Given the description of an element on the screen output the (x, y) to click on. 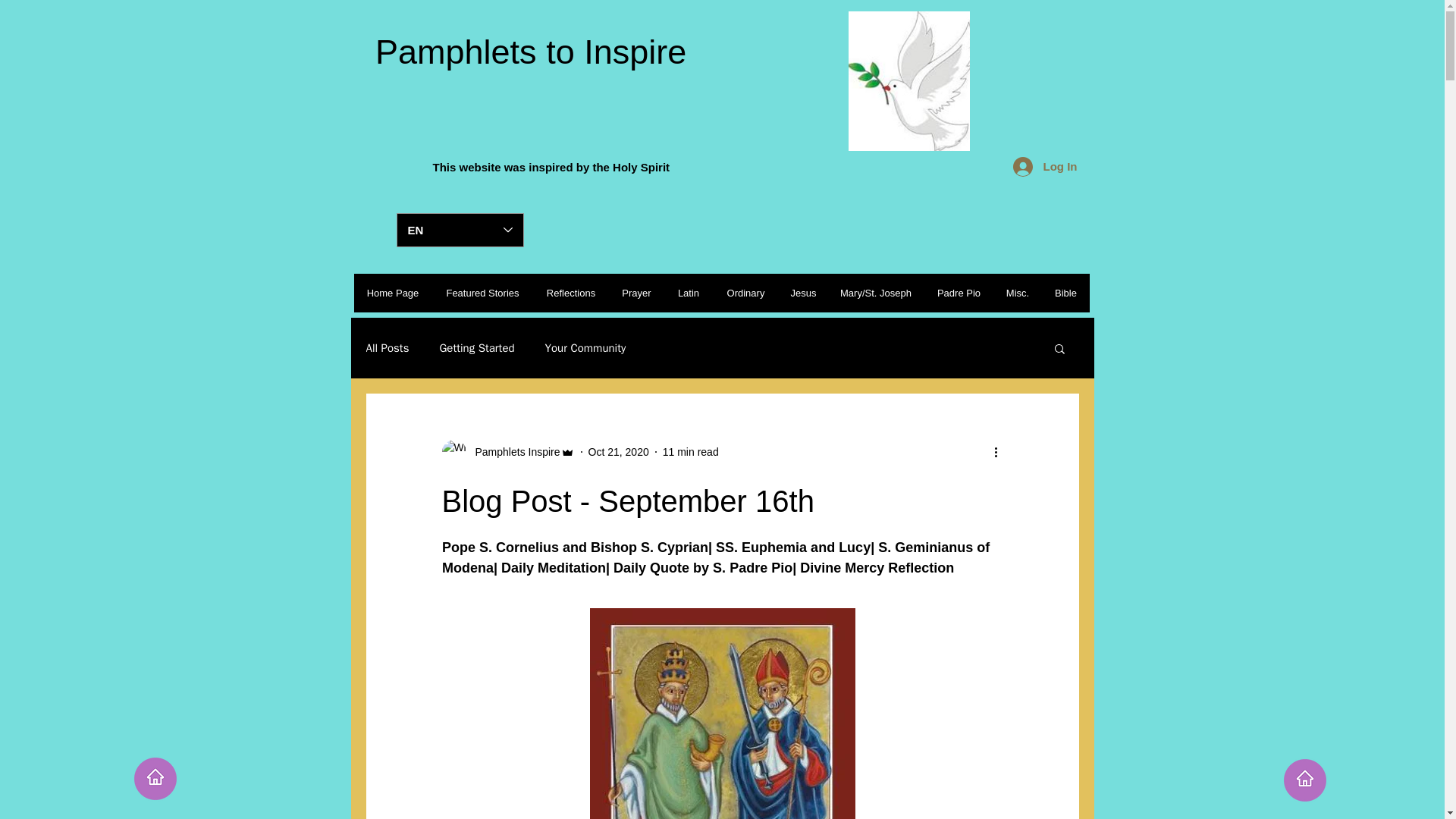
Oct 21, 2020 (618, 451)
Pamphlets Inspire (512, 452)
Reflections (570, 292)
Home Page (391, 292)
Prayer (635, 292)
Featured Stories (482, 292)
Pamphlets to Inspire (525, 51)
Log In (1045, 165)
11 min read (690, 451)
